Given the description of an element on the screen output the (x, y) to click on. 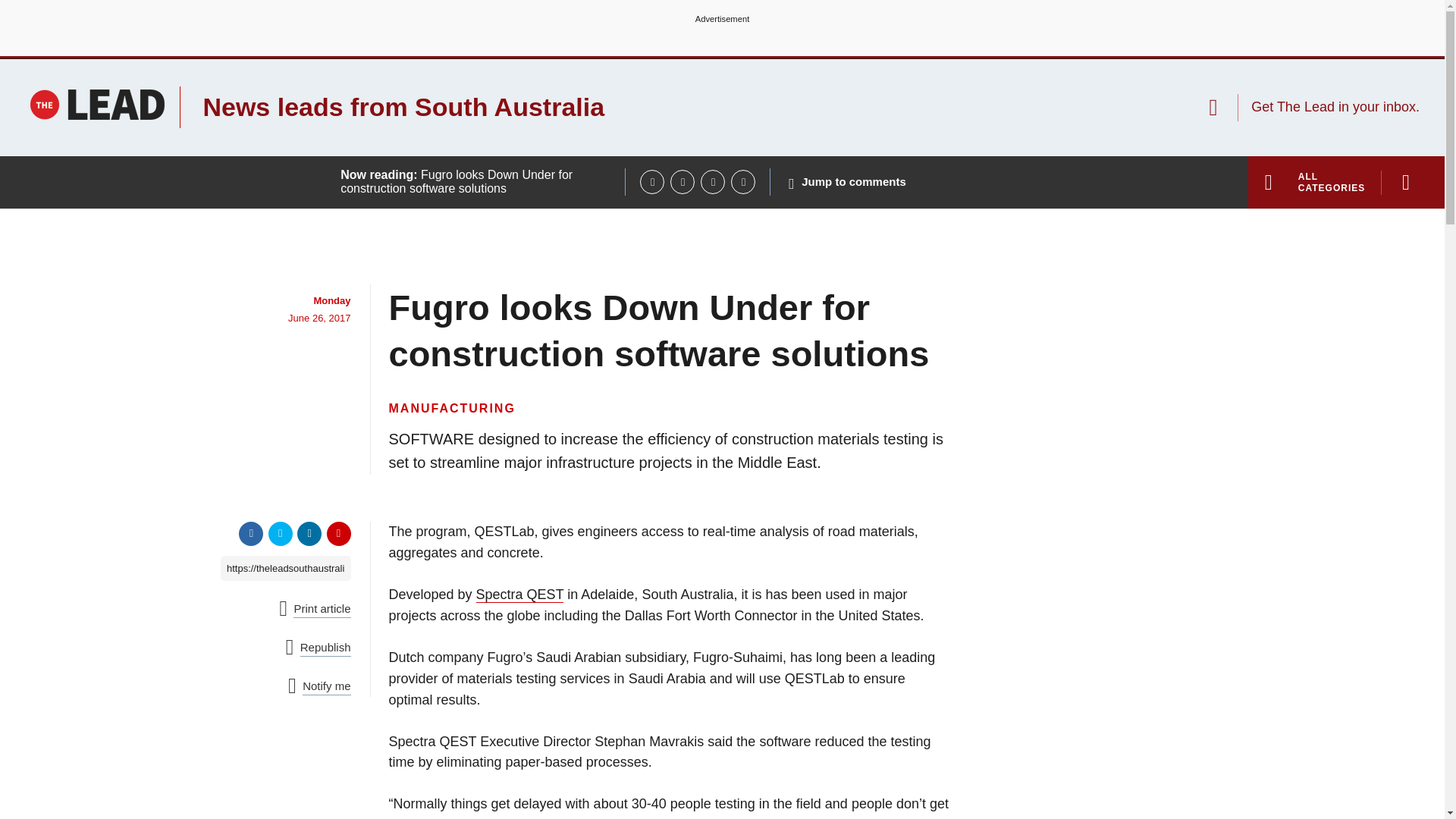
Notify me (319, 686)
Get The Lead in your inbox. (1313, 107)
Republish (317, 648)
Spectra QEST (520, 594)
Print article (314, 608)
MANUFACTURING (451, 408)
Jump to comments (847, 181)
